Given the description of an element on the screen output the (x, y) to click on. 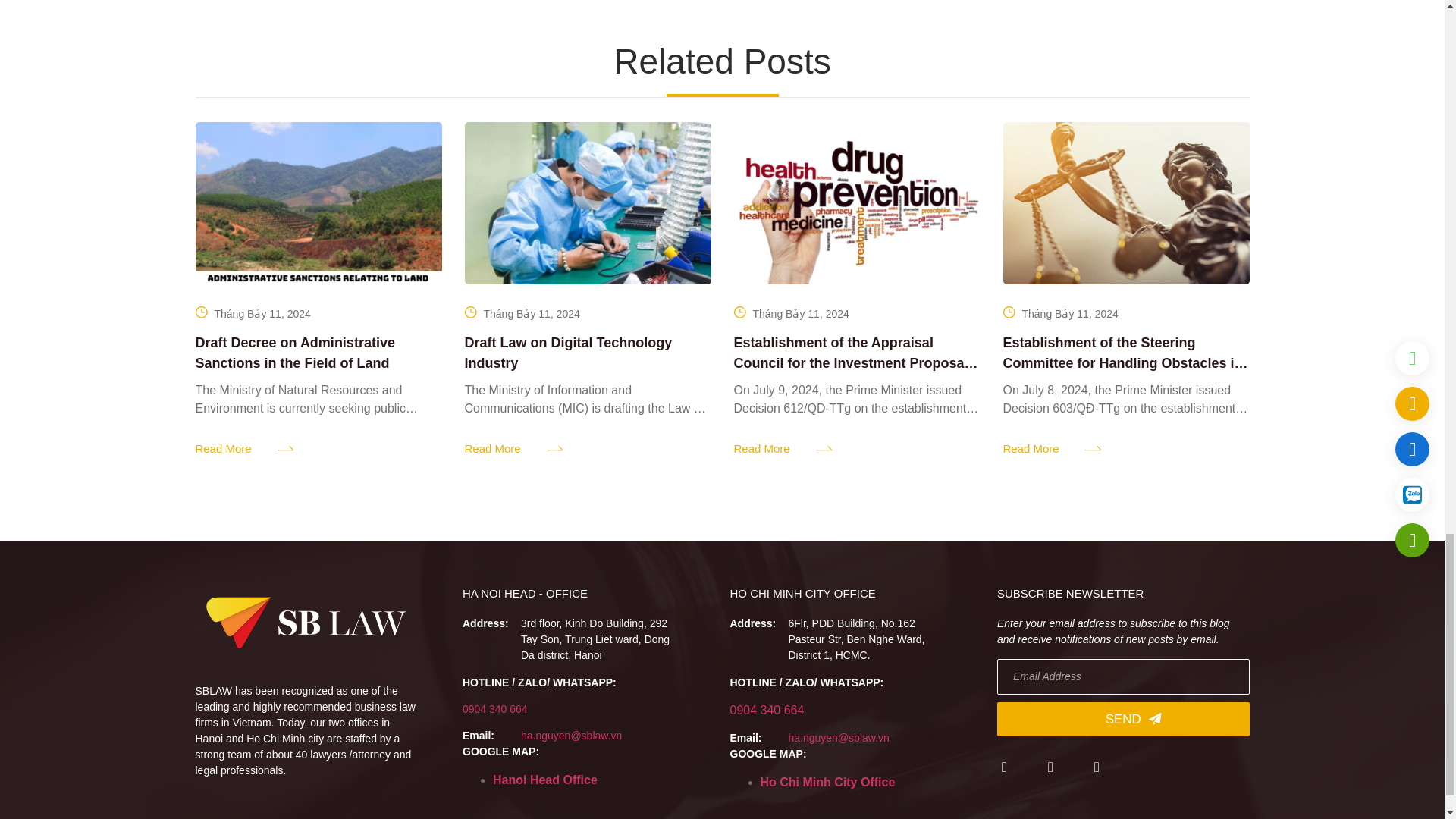
Send (1123, 718)
